Given the description of an element on the screen output the (x, y) to click on. 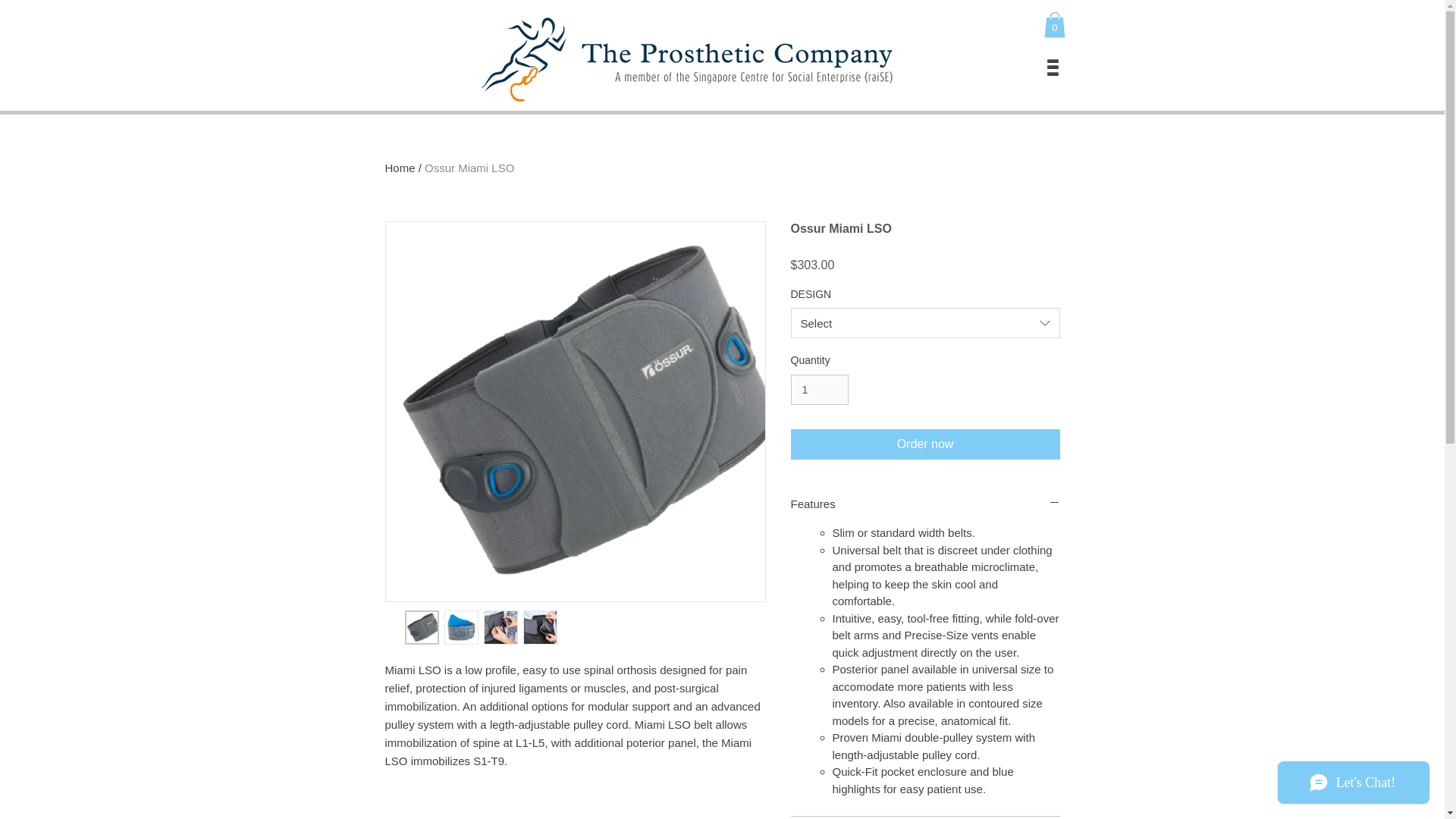
Select (924, 322)
Order now (924, 444)
Ossur Miami LSO (469, 167)
1 (818, 389)
Features (924, 503)
Home (399, 167)
